Given the description of an element on the screen output the (x, y) to click on. 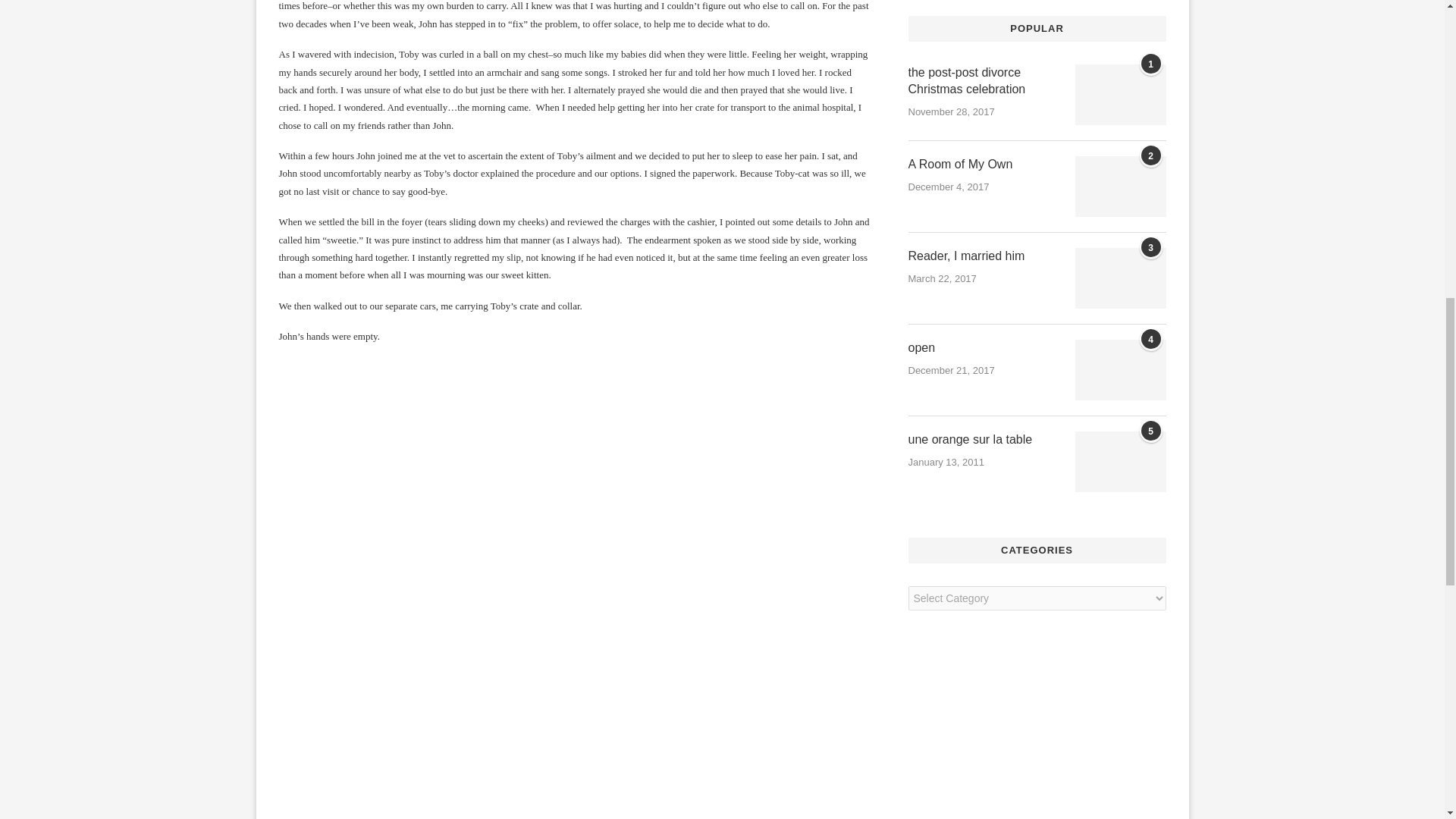
open (1120, 369)
une orange sur la table (983, 439)
the post-post divorce Christmas celebration (1120, 94)
A Room of My Own (1120, 186)
A Room of My Own (983, 164)
une orange sur la table (1120, 461)
the post-post divorce Christmas celebration (983, 81)
Reader, I married him (983, 256)
open (983, 347)
Reader, I married him (1120, 278)
